Given the description of an element on the screen output the (x, y) to click on. 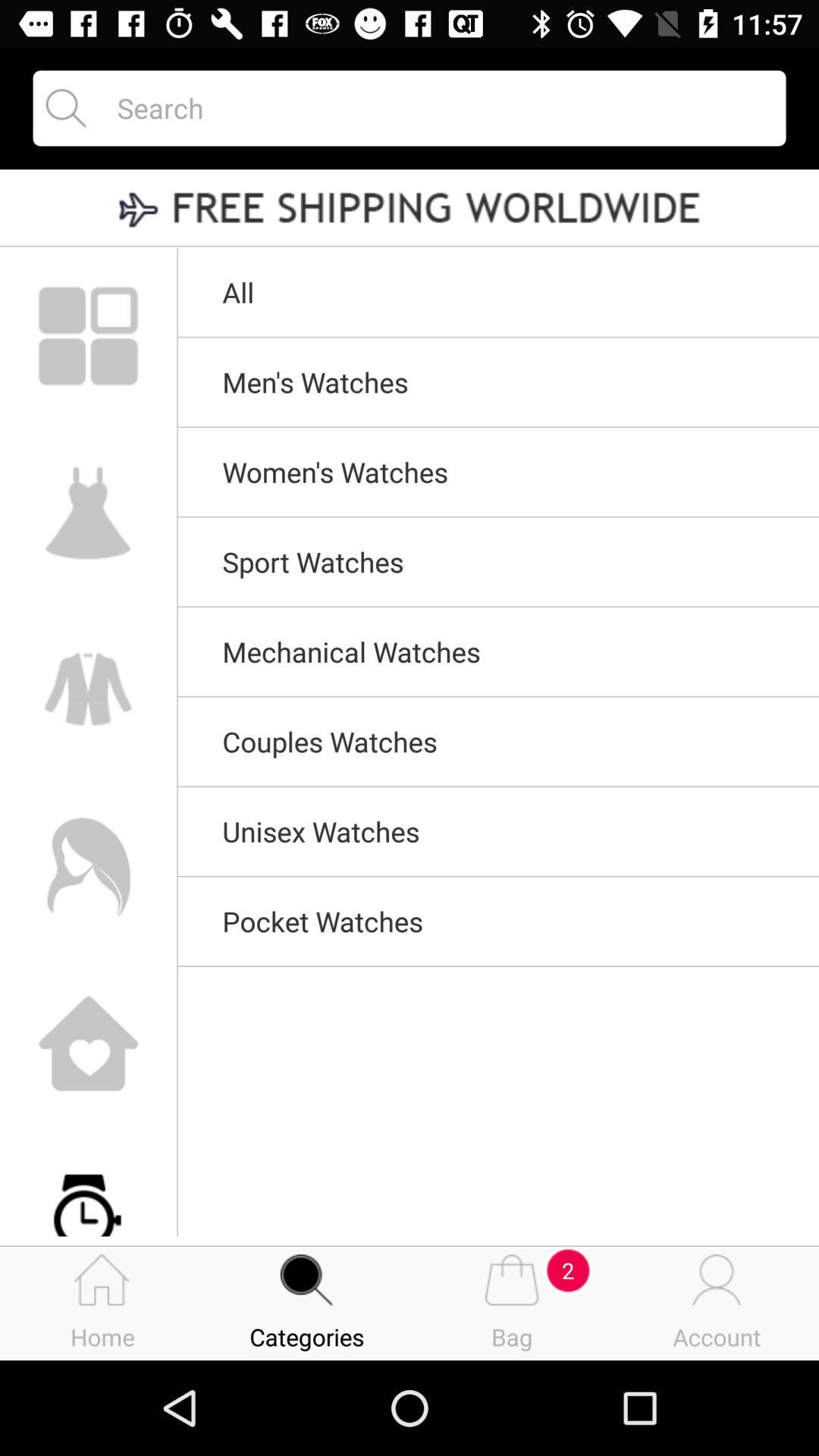
search option (437, 108)
